Given the description of an element on the screen output the (x, y) to click on. 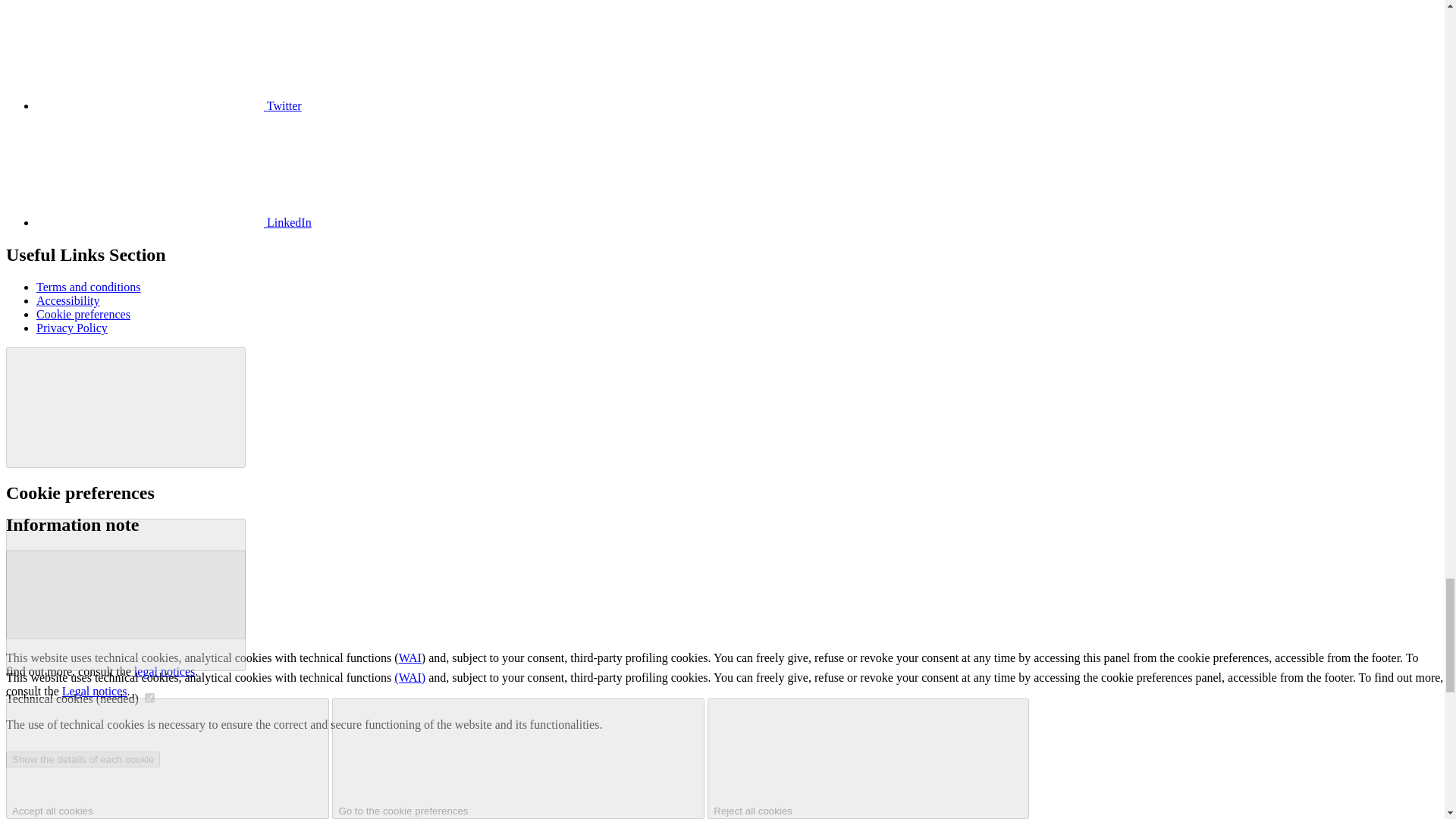
on (149, 697)
